Given the description of an element on the screen output the (x, y) to click on. 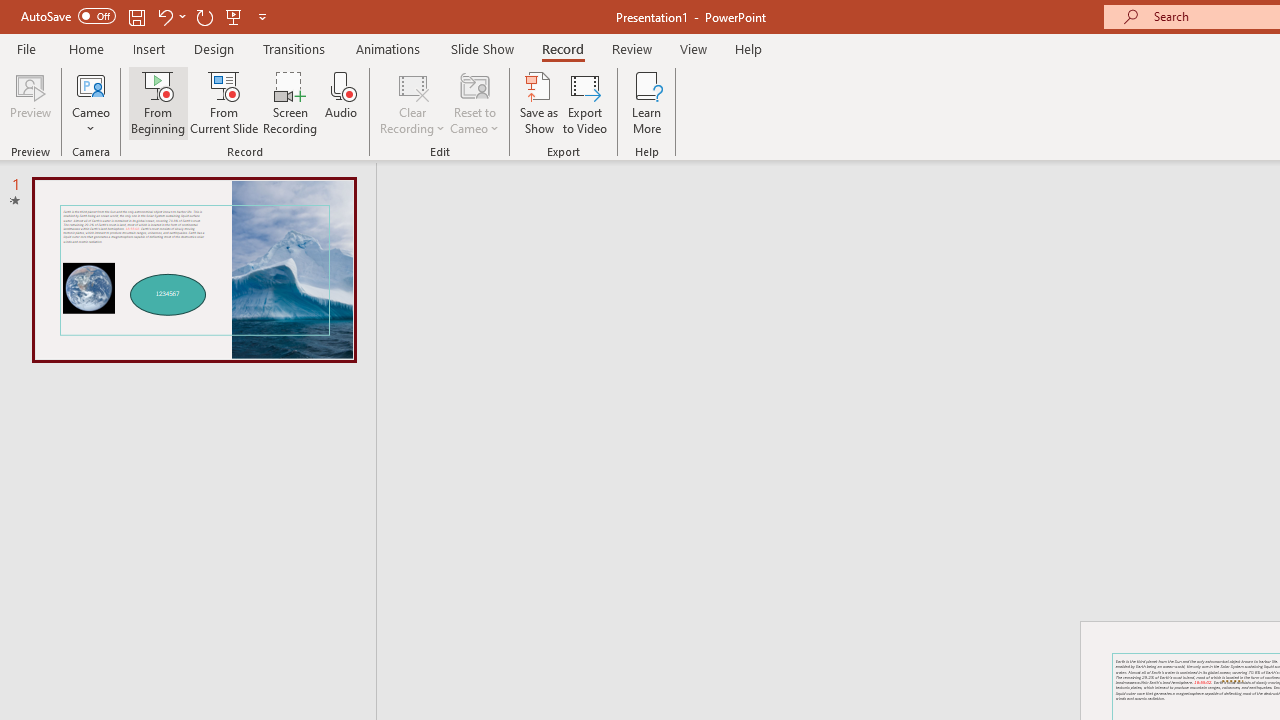
Reset to Cameo (474, 102)
Screen Recording (290, 102)
From Beginning... (158, 102)
From Current Slide... (224, 102)
